Given the description of an element on the screen output the (x, y) to click on. 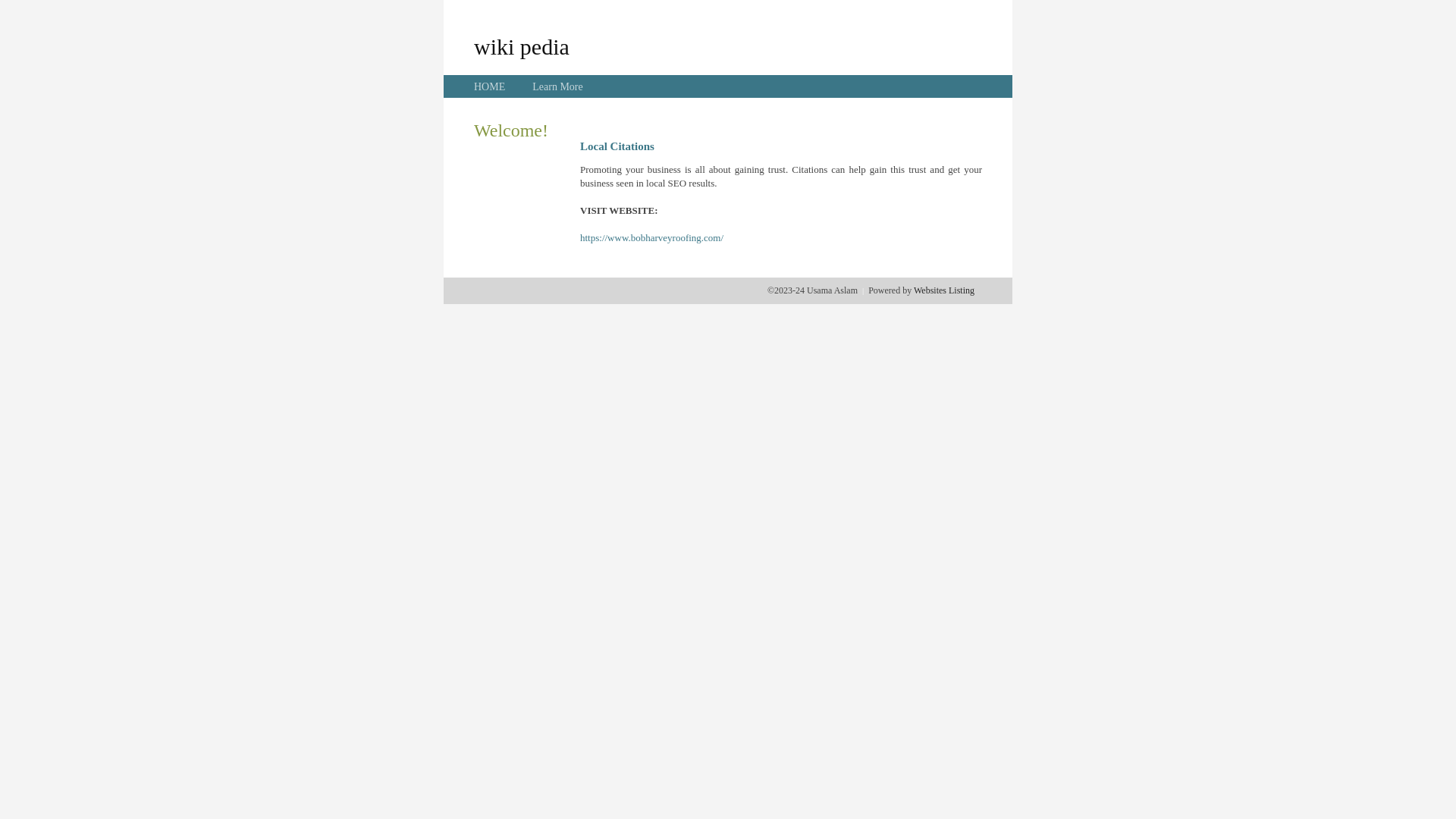
https://www.bobharveyroofing.com/ Element type: text (651, 237)
Websites Listing Element type: text (943, 290)
wiki pedia Element type: text (521, 46)
HOME Element type: text (489, 86)
Learn More Element type: text (557, 86)
